Given the description of an element on the screen output the (x, y) to click on. 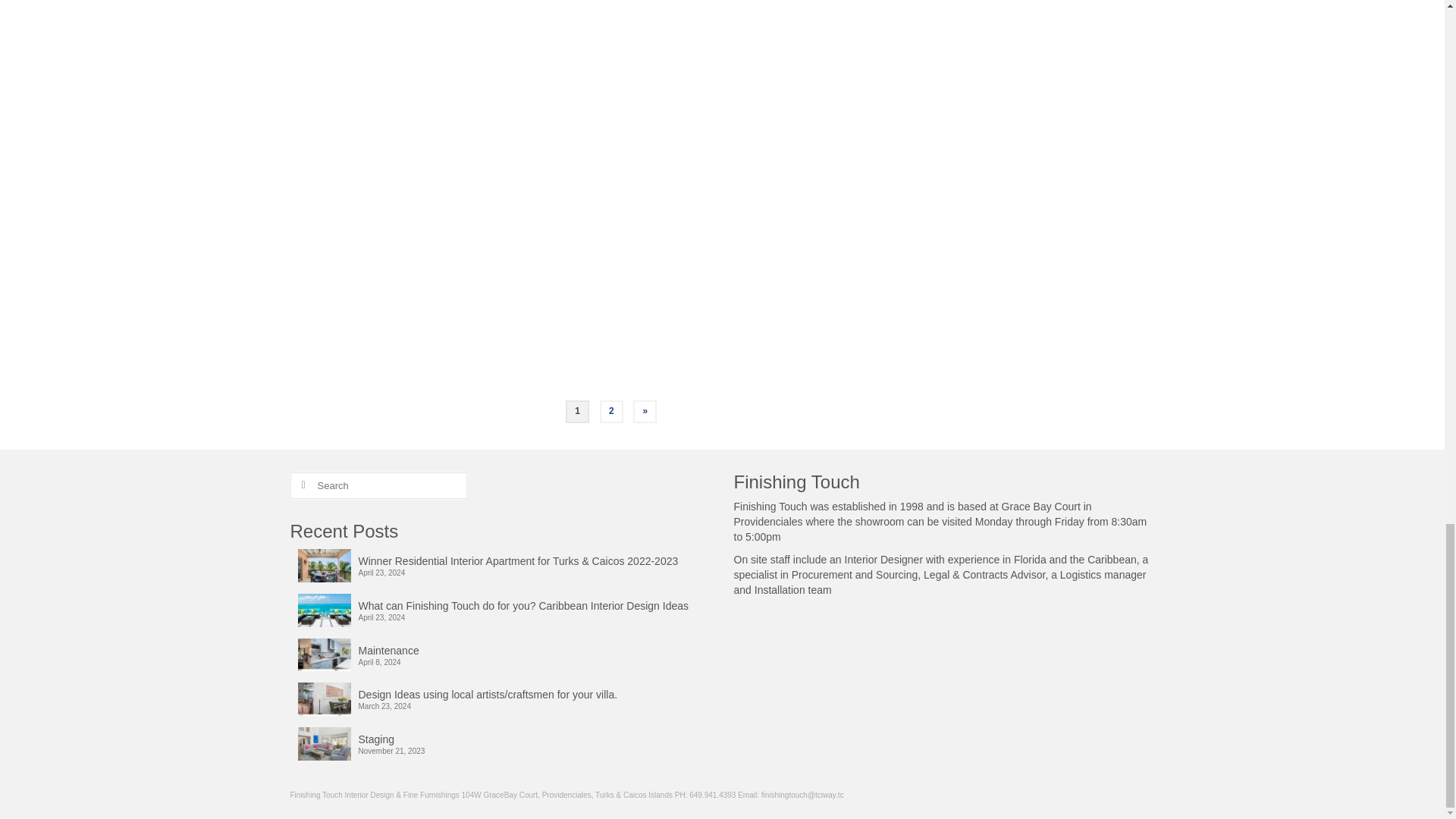
2 (611, 411)
Maintenance (503, 648)
Staging (503, 736)
